Given the description of an element on the screen output the (x, y) to click on. 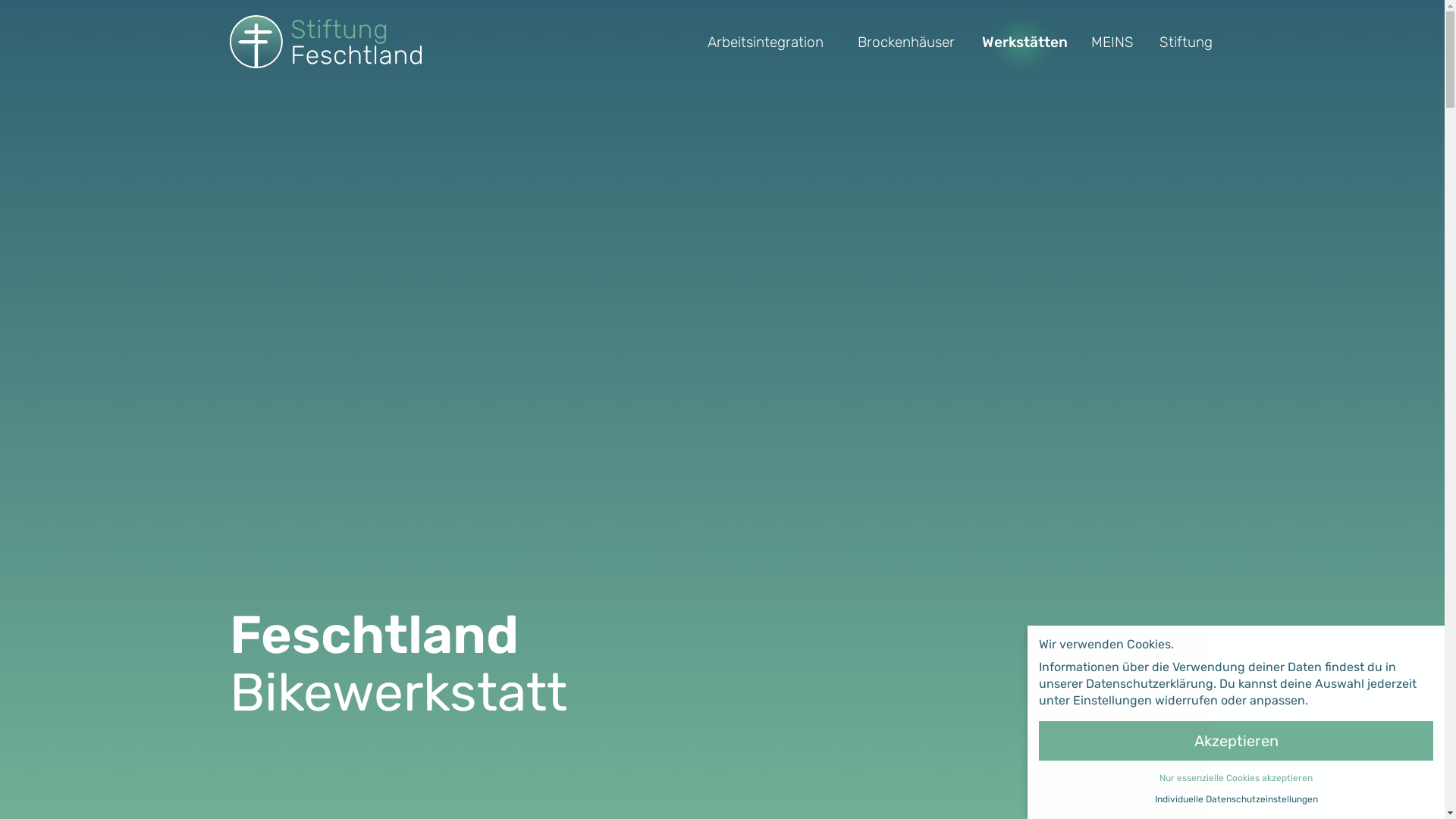
Einstellungen Element type: text (1112, 700)
Stiftung Element type: text (1186, 41)
Stiftung Feschtland Startseite Element type: hover (324, 41)
Akzeptieren Element type: text (1235, 740)
MEINS Element type: text (1112, 41)
bikewerkstatt@feschtland.ch Element type: hover (1406, 741)
Nur essenzielle Cookies akzeptieren Element type: text (1235, 777)
Individuelle Datenschutzeinstellungen Element type: text (1235, 798)
